Given the description of an element on the screen output the (x, y) to click on. 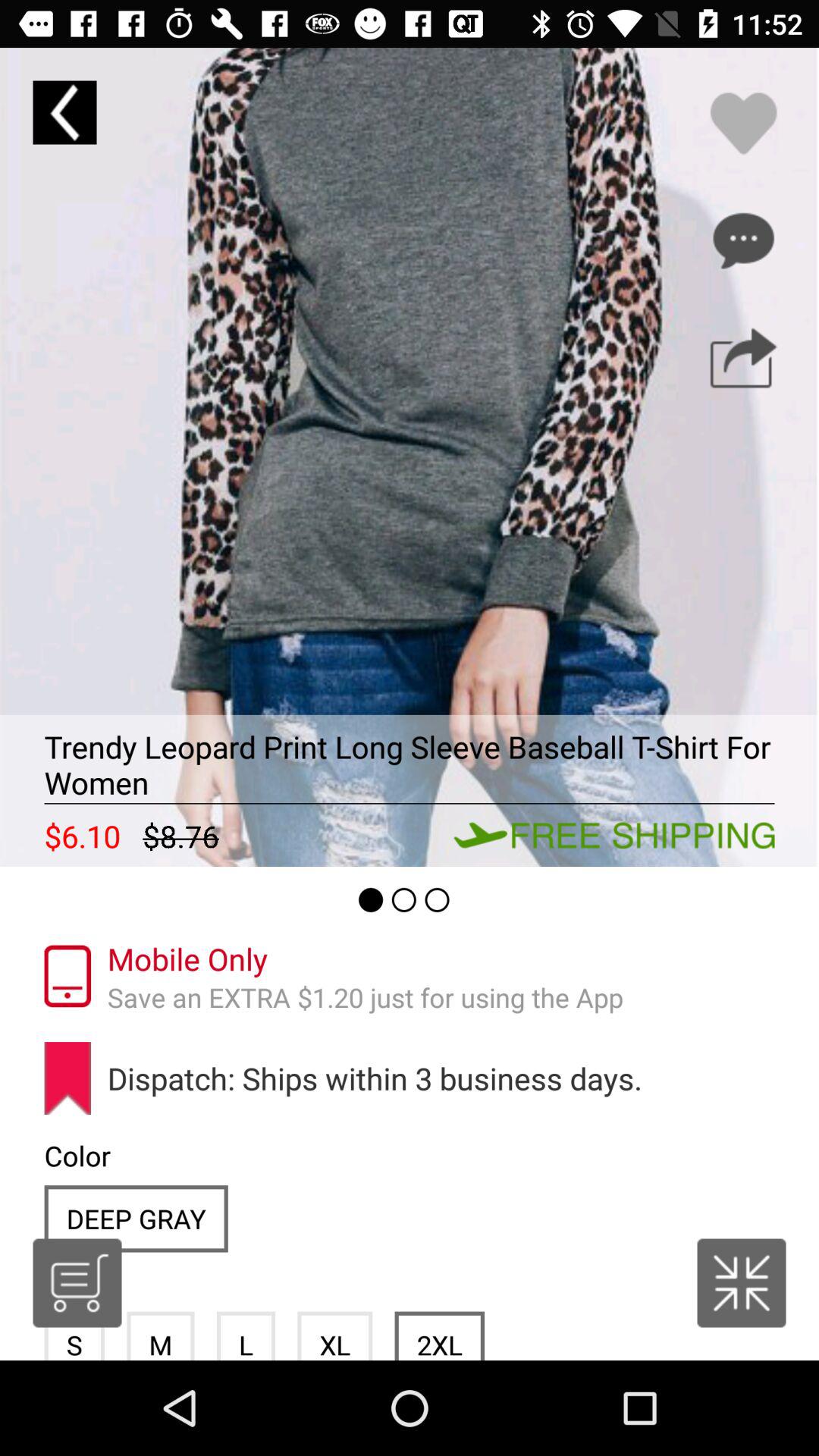
select icon next to m icon (76, 1282)
